Given the description of an element on the screen output the (x, y) to click on. 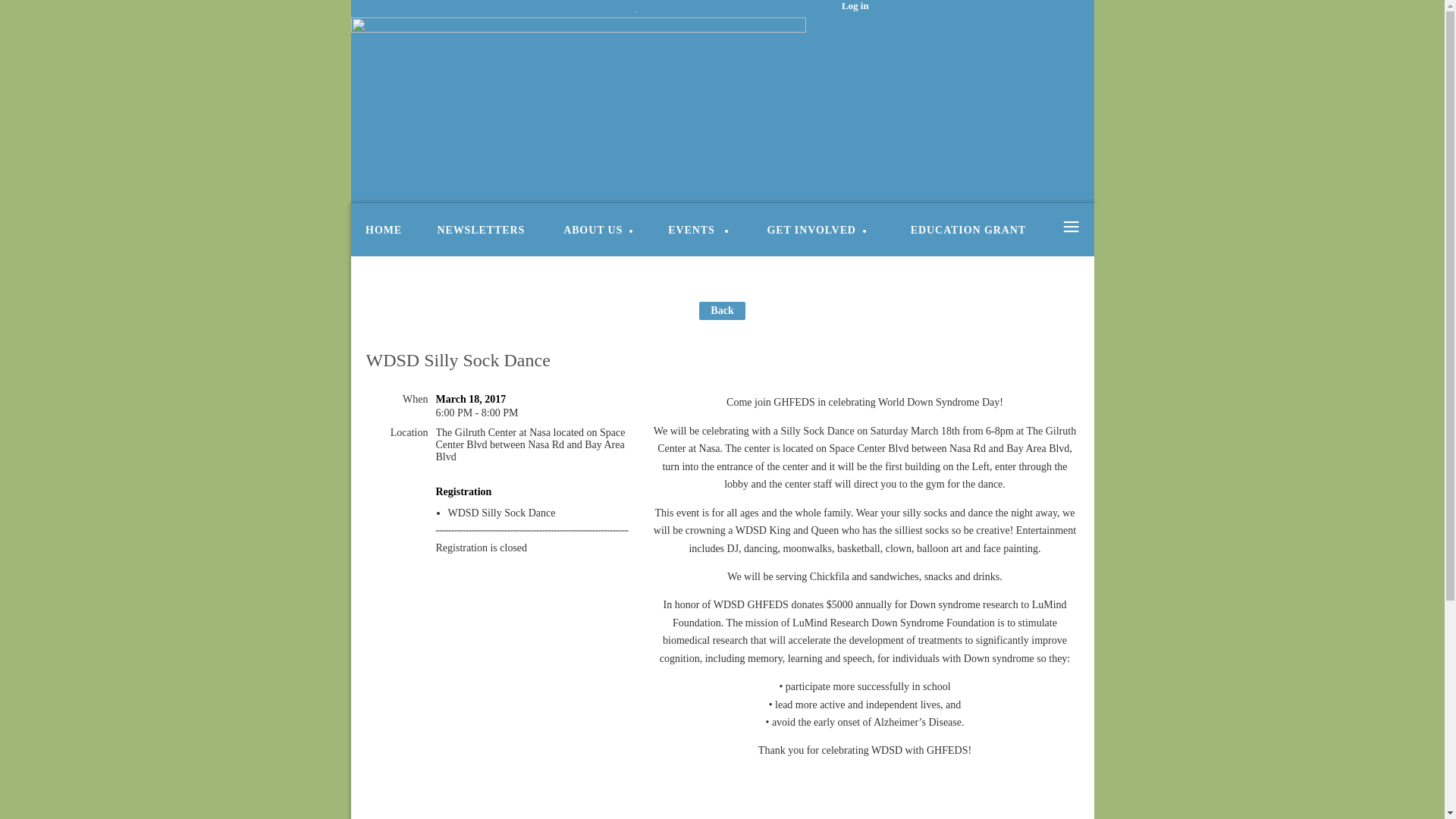
Log in (843, 9)
Education Grant (967, 228)
Back (721, 311)
HOME (383, 228)
NEWSLETTERS (480, 228)
EDUCATION GRANT (967, 228)
ABOUT US (597, 228)
EVENTS (697, 228)
Get Involved (815, 228)
NEWSLETTERS (480, 228)
Home (383, 228)
About Us (597, 228)
Events  (697, 228)
GET INVOLVED (815, 228)
